Given the description of an element on the screen output the (x, y) to click on. 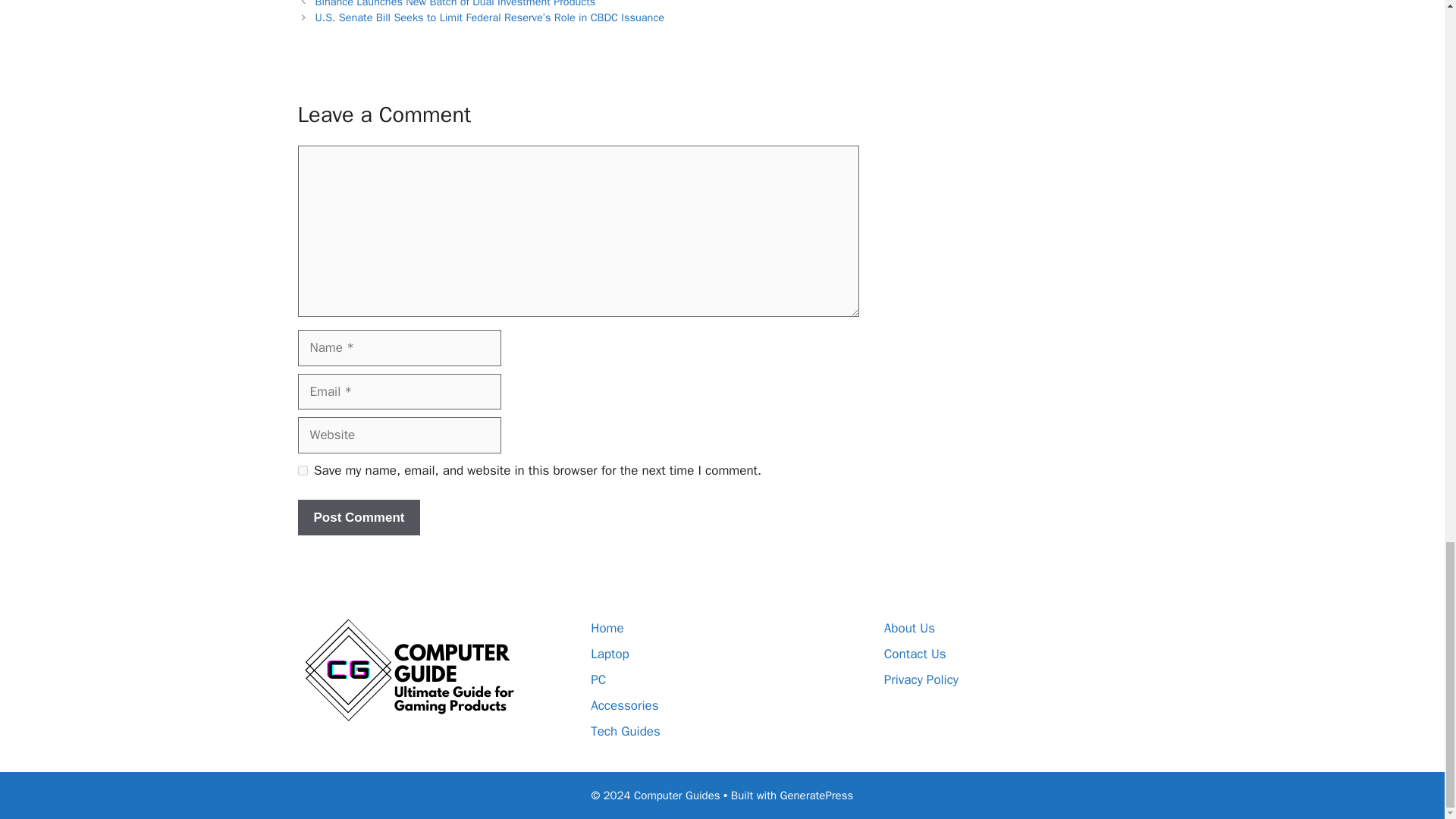
Tech Guides (626, 731)
Accessories (624, 705)
Post Comment (358, 517)
About Us (908, 627)
Laptop (609, 653)
Home (607, 627)
Privacy Policy (920, 679)
Contact Us (914, 653)
Post Comment (358, 517)
Binance Launches New Batch of Dual Investment Products (455, 4)
yes (302, 470)
PC (598, 679)
GeneratePress (816, 795)
